Given the description of an element on the screen output the (x, y) to click on. 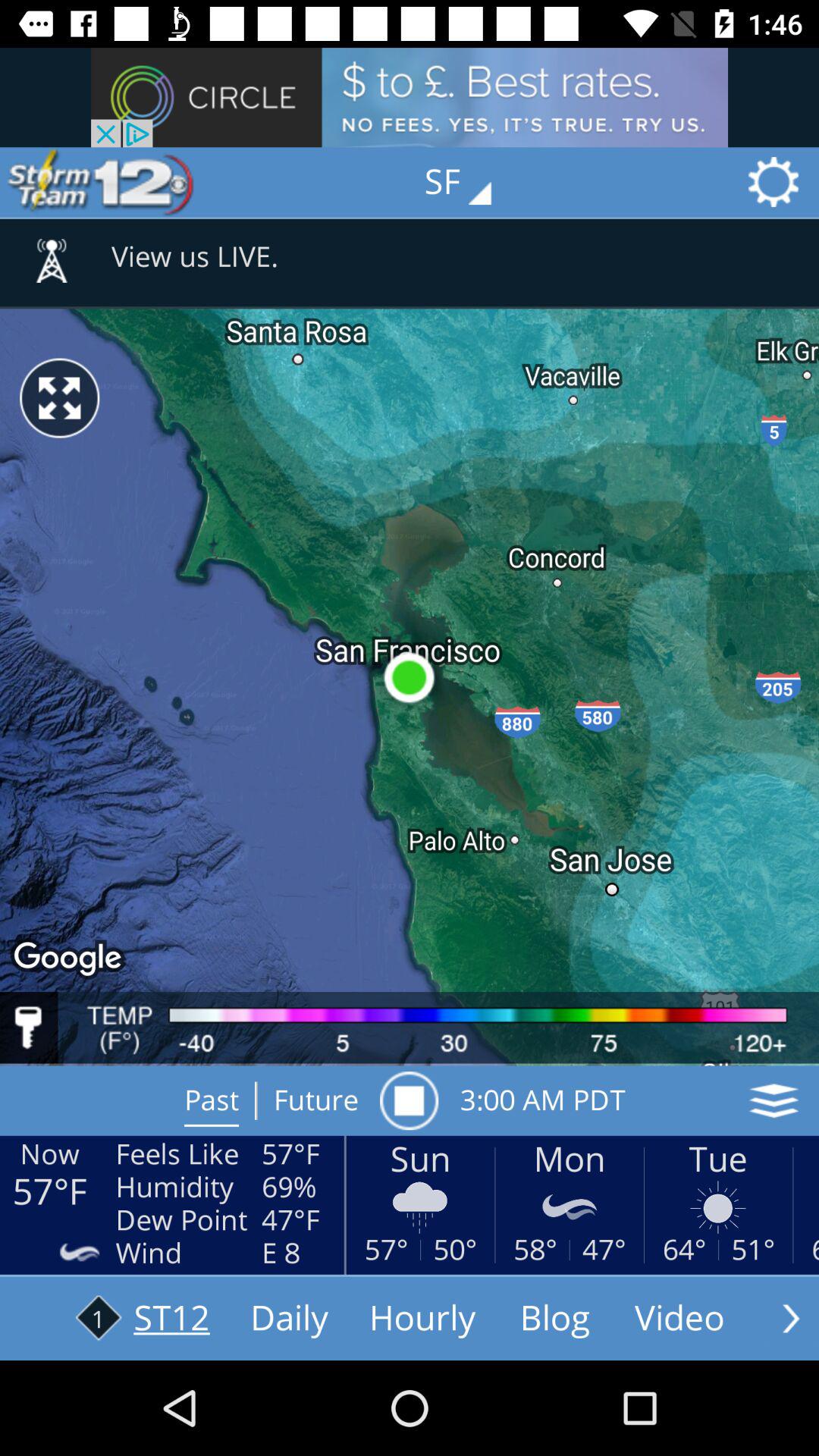
press the item next to future item (409, 1100)
